Given the description of an element on the screen output the (x, y) to click on. 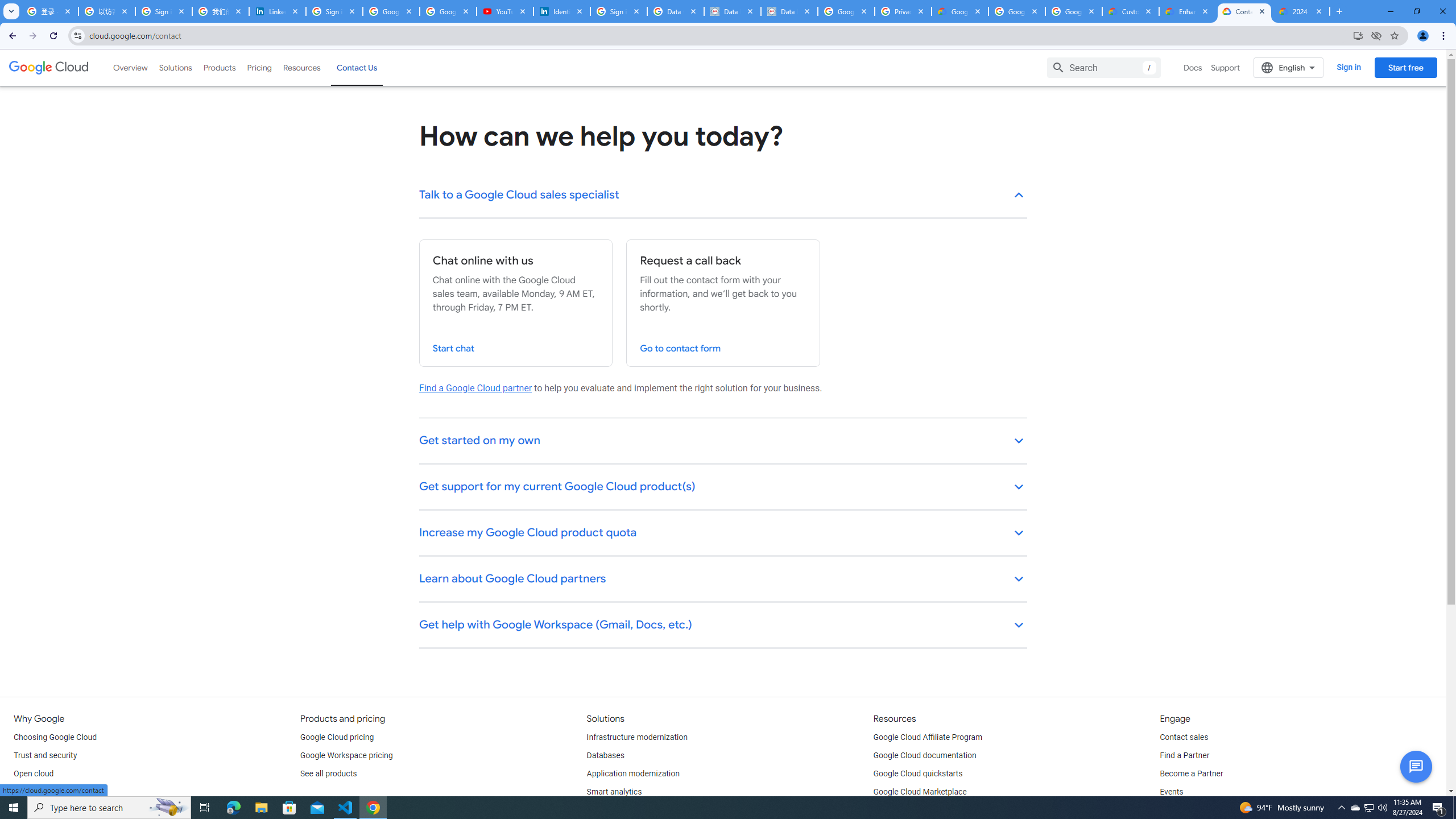
Multicloud (31, 791)
Google Cloud pricing (336, 737)
Events (1170, 791)
Google Cloud (48, 67)
Sign in - Google Accounts (334, 11)
Start free (1405, 67)
Open cloud (33, 773)
Talk to a Google Cloud sales specialist keyboard_arrow_up (723, 195)
